Given the description of an element on the screen output the (x, y) to click on. 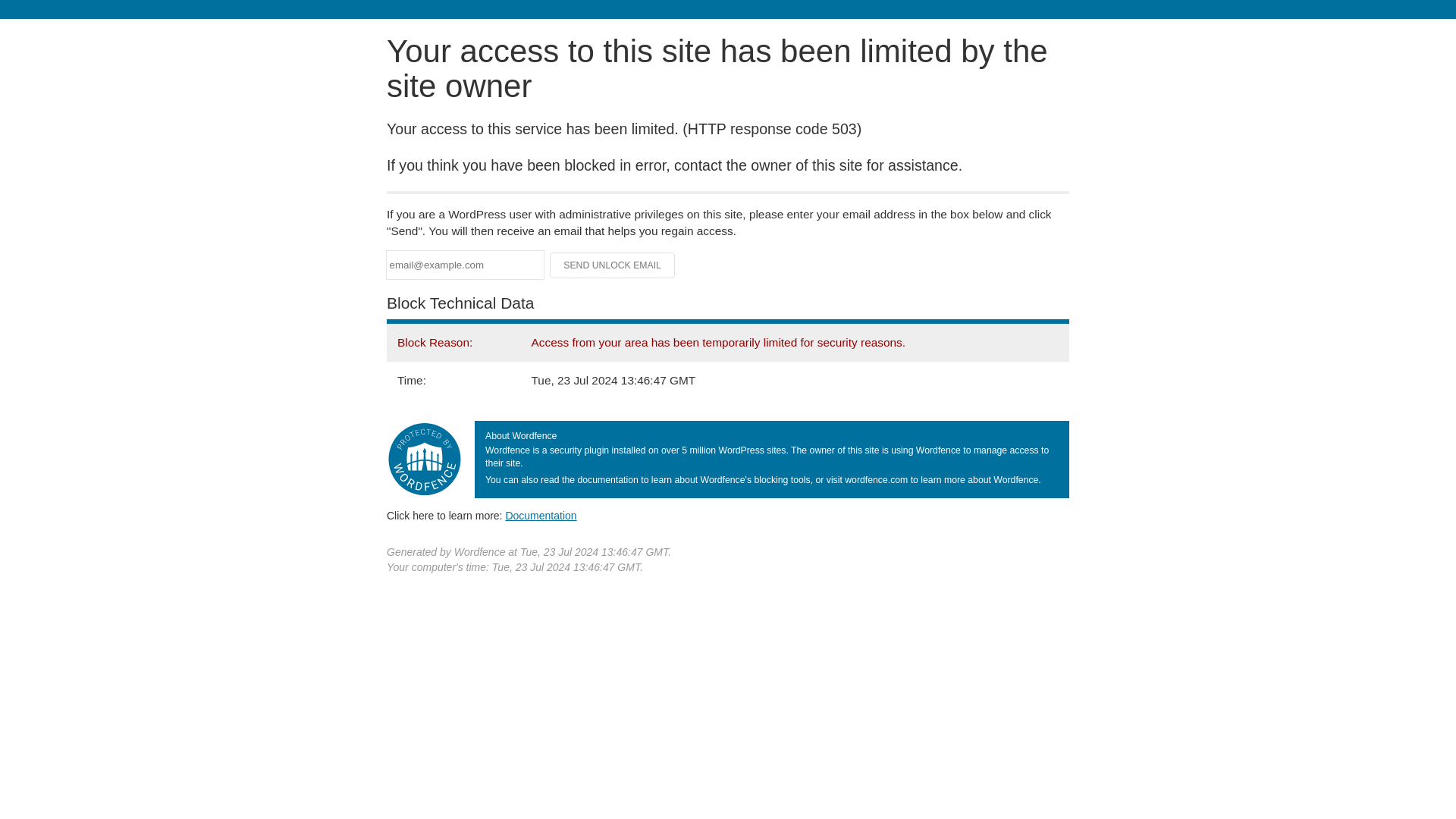
Send Unlock Email (612, 265)
Documentation (540, 515)
Send Unlock Email (612, 265)
